Given the description of an element on the screen output the (x, y) to click on. 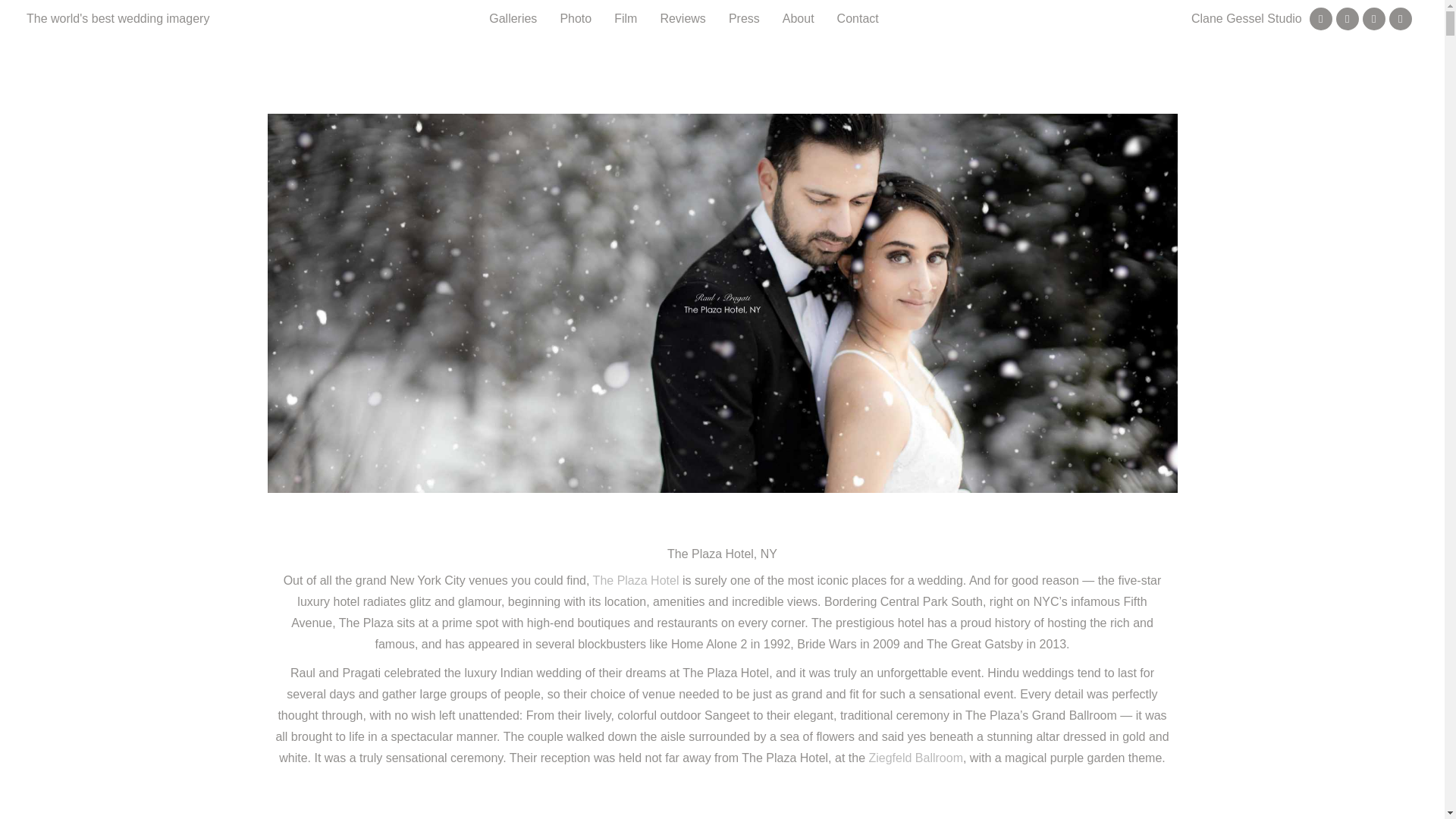
The Plaza Hotel (635, 580)
Clane Gessel Studio (1246, 18)
Reviews (681, 18)
Photo (575, 18)
Press (744, 18)
Ziegfeld Ballroom (914, 757)
About (798, 18)
The world's best wedding imagery (117, 18)
Contact (858, 18)
Film (625, 18)
